Given the description of an element on the screen output the (x, y) to click on. 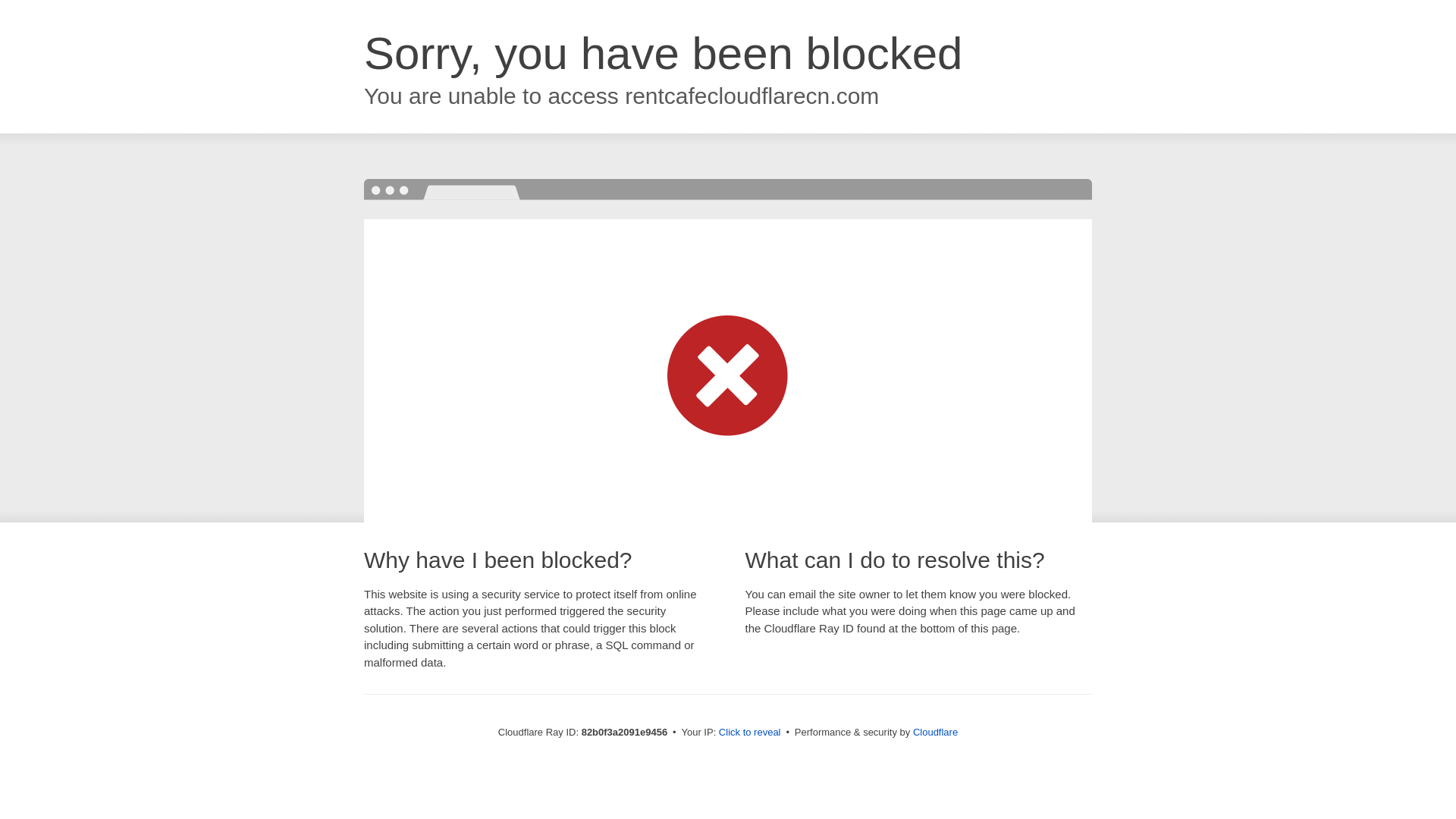
Cloudflare Element type: text (935, 731)
Click to reveal Element type: text (749, 732)
